Given the description of an element on the screen output the (x, y) to click on. 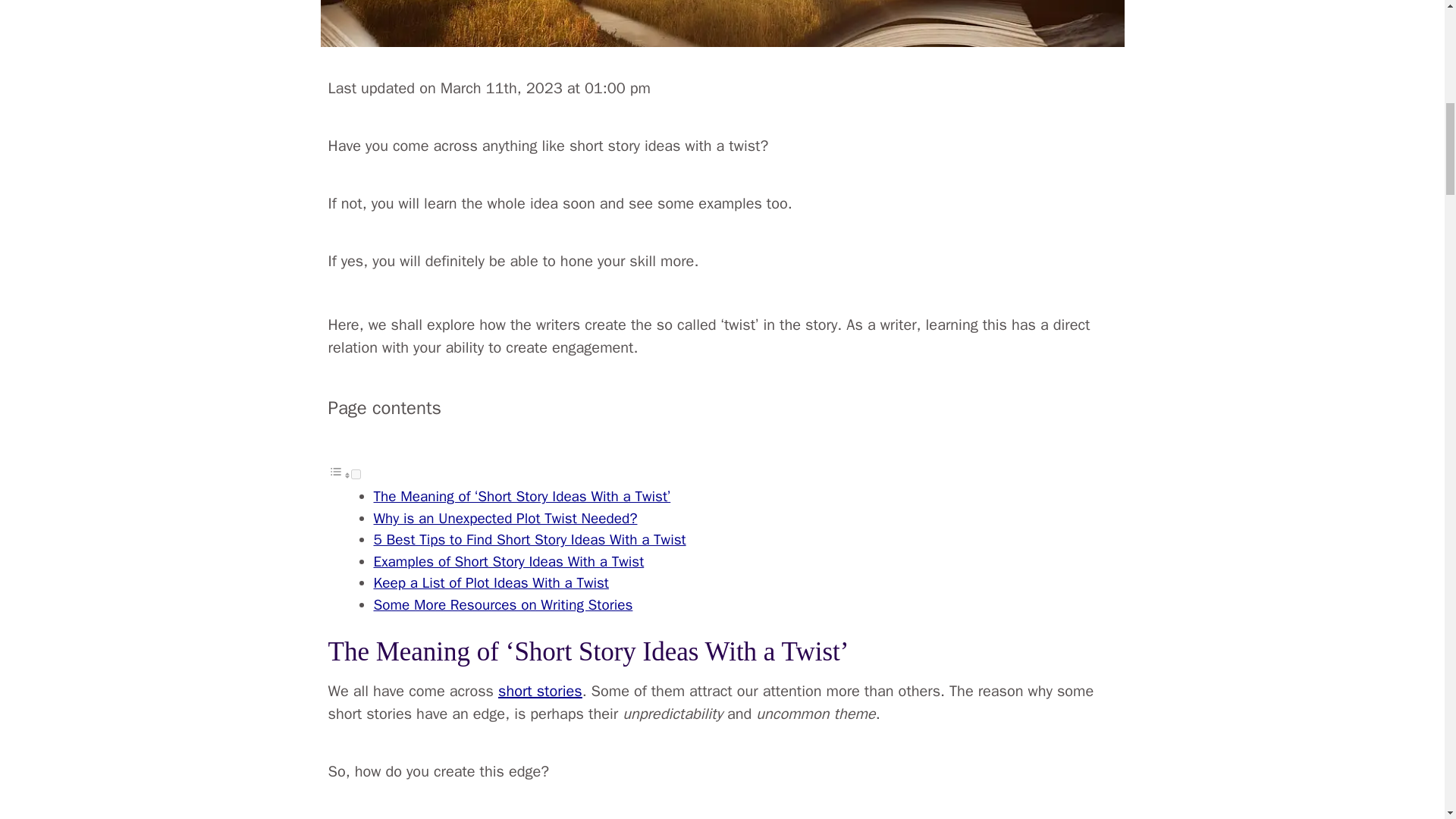
5 Best Tips to Find Short Story Ideas With a Twist (528, 539)
on (354, 474)
short stories (539, 691)
Keep a List of Plot Ideas With a Twist (490, 583)
Why is an Unexpected Plot Twist Needed? (504, 518)
Examples of Short Story Ideas With a Twist (507, 561)
Why is an Unexpected Plot Twist Needed? (504, 518)
Scroll back to top (1406, 720)
5 Best Tips to Find Short Story Ideas With a Twist (528, 539)
Examples of Short Story Ideas With a Twist (507, 561)
